Given the description of an element on the screen output the (x, y) to click on. 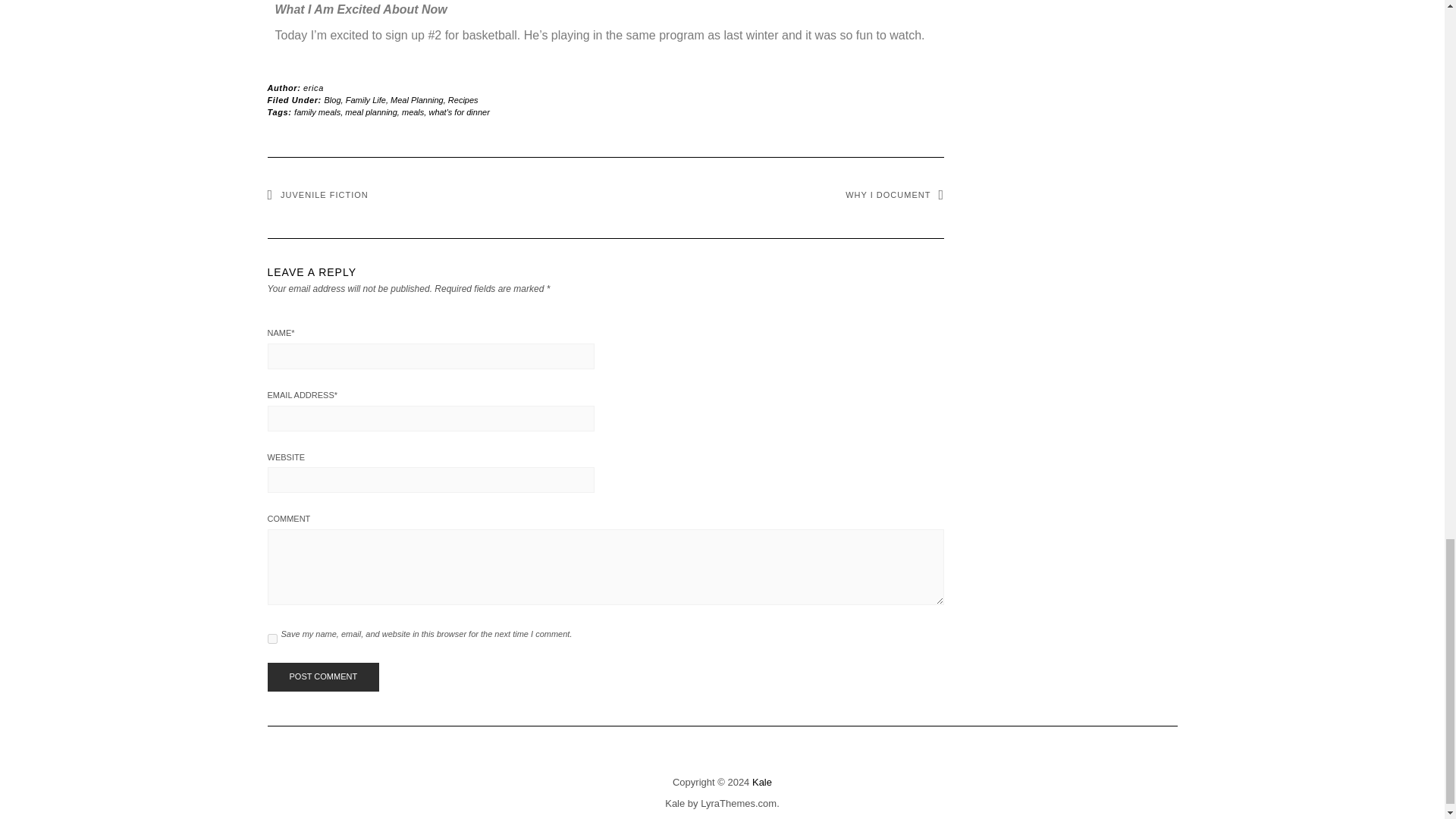
family meals (317, 112)
Family Life (365, 99)
meals (412, 112)
JUVENILE FICTION (317, 194)
meal planning (371, 112)
WHY I DOCUMENT (894, 194)
Post Comment (322, 676)
erica (312, 87)
Meal Planning (417, 99)
Posts by erica (312, 87)
